Given the description of an element on the screen output the (x, y) to click on. 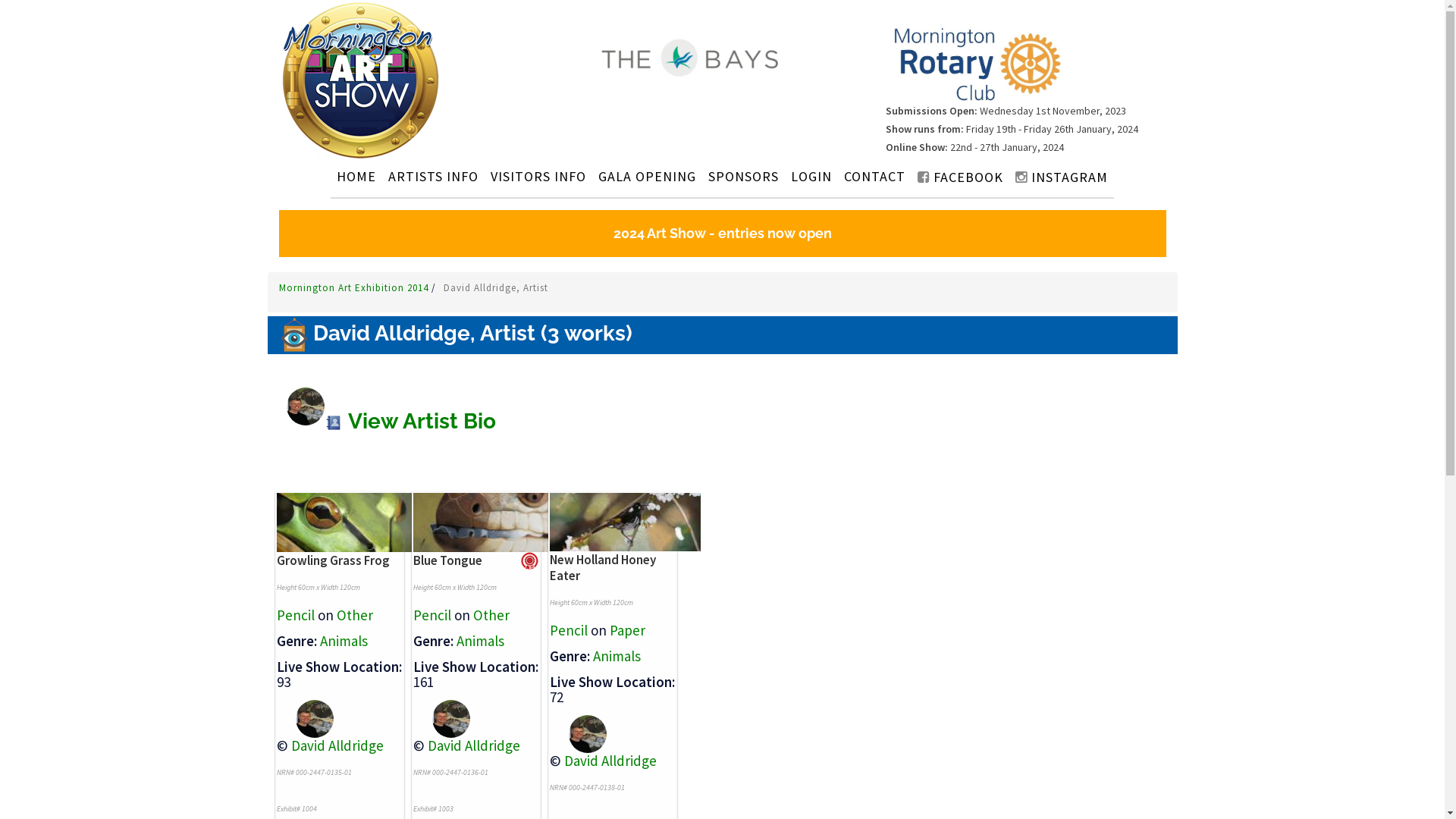
ARTISTS INFO Element type: text (433, 176)
CONTACT Element type: text (874, 176)
HOME Element type: text (355, 176)
INSTAGRAM Element type: text (1061, 177)
Mornington Art Exhibition 2014 Element type: text (355, 287)
Paper Element type: text (627, 630)
New Holland Honey Eater Element type: text (602, 567)
SPONSORS Element type: text (743, 176)
View Artist Bio Element type: text (409, 420)
VISITORS INFO Element type: text (537, 176)
Best Mixed Media at The Mornington Art Exhibition 2014 Element type: hover (529, 561)
Pencil Element type: text (431, 614)
Blue Tongue Element type: text (446, 560)
Other Element type: text (491, 614)
2024 Art Show - entries now open Element type: text (722, 233)
David Alldridge Element type: text (337, 745)
View all works by David Alldridge Element type: hover (304, 717)
Growling Grass Frog Element type: text (332, 560)
LOGIN Element type: text (811, 176)
David Alldridge Element type: text (610, 760)
GALA OPENING Element type: text (646, 176)
Animals Element type: text (616, 655)
Animals Element type: text (480, 640)
Pencil Element type: text (567, 630)
Other Element type: text (354, 614)
View all works by David Alldridge Element type: hover (440, 717)
FACEBOOK Element type: text (960, 177)
Animals Element type: text (343, 640)
View all works by David Alldridge Element type: hover (577, 732)
David Alldridge Element type: text (473, 745)
Pencil Element type: text (294, 614)
